Given the description of an element on the screen output the (x, y) to click on. 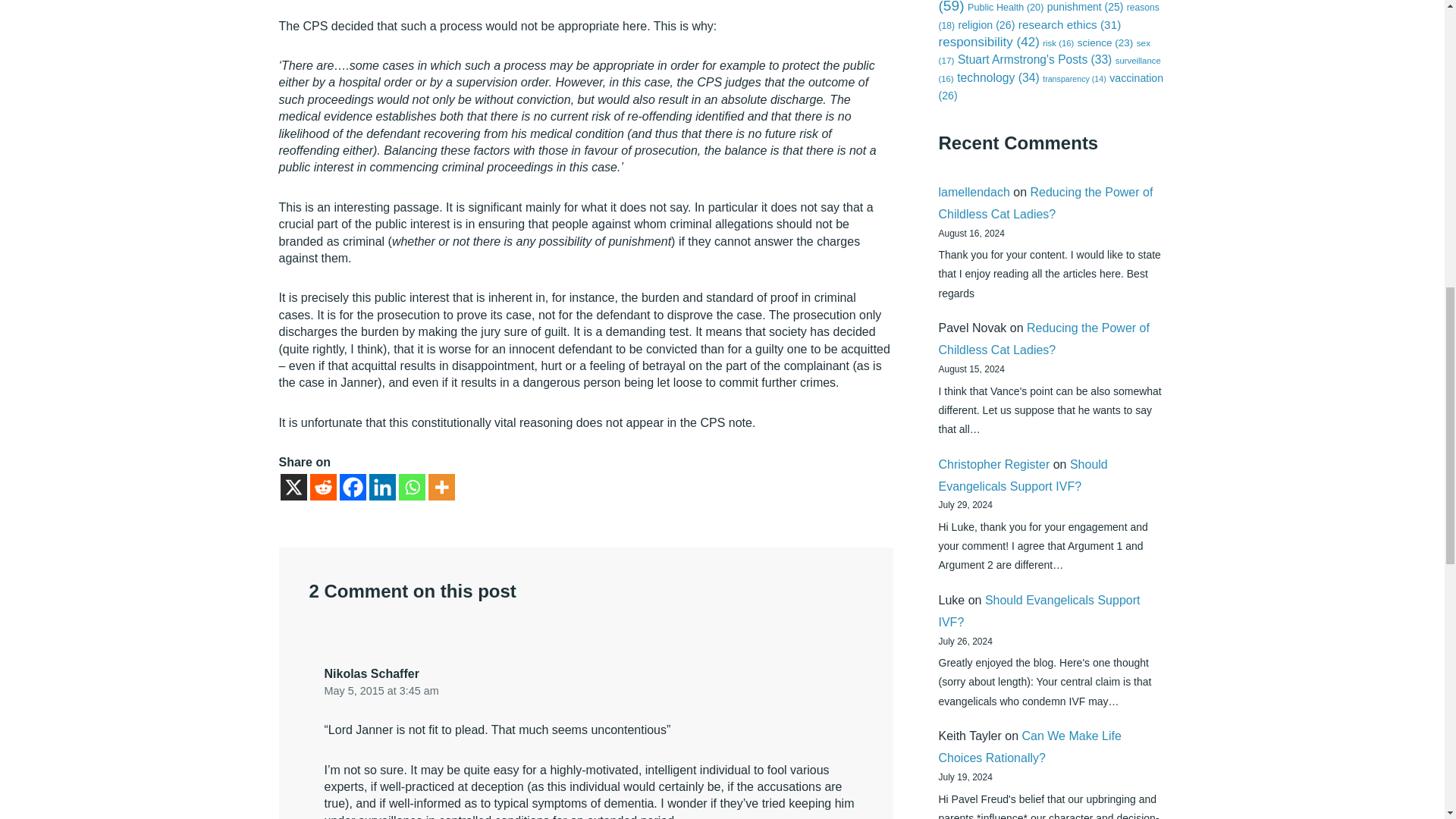
Linkedin (381, 487)
X (294, 487)
More (441, 487)
Whatsapp (411, 487)
May 5, 2015 at 3:45 am (381, 690)
Reddit (322, 487)
Facebook (352, 487)
